Given the description of an element on the screen output the (x, y) to click on. 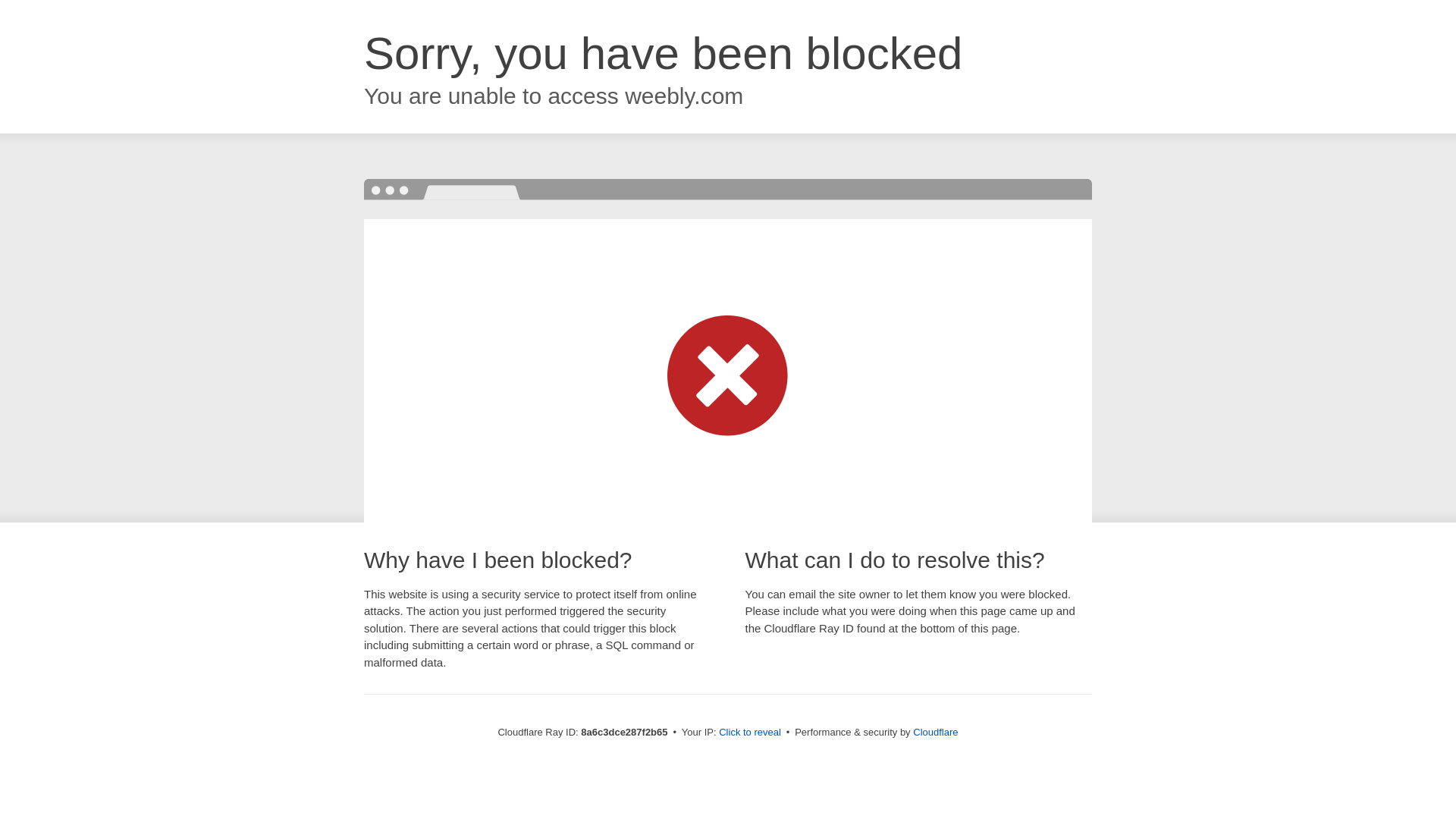
Click to reveal (749, 732)
Cloudflare (935, 731)
